Given the description of an element on the screen output the (x, y) to click on. 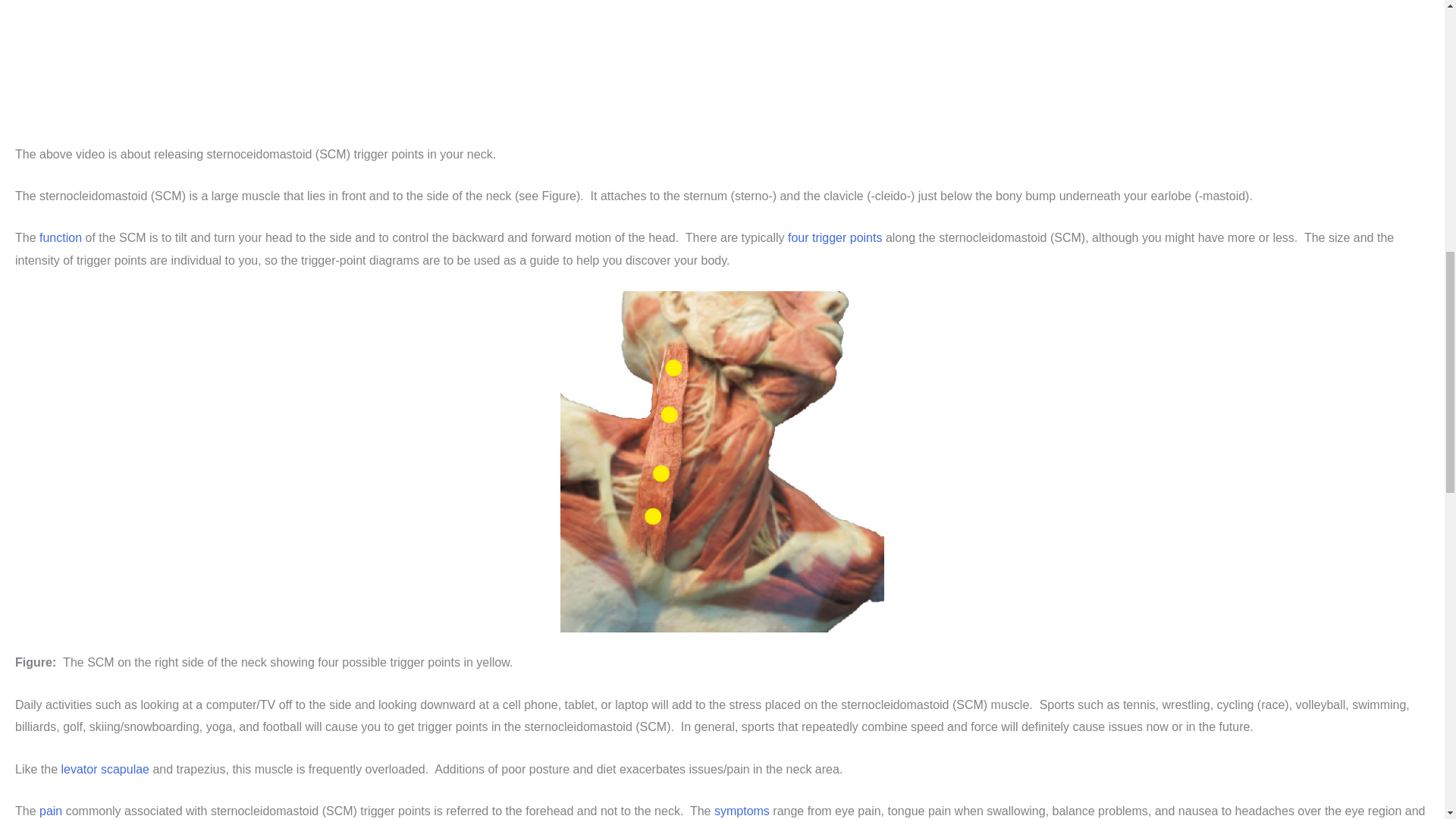
symptoms (742, 810)
function (60, 237)
pain (50, 810)
four trigger points (834, 237)
levator scapulae (105, 768)
